Given the description of an element on the screen output the (x, y) to click on. 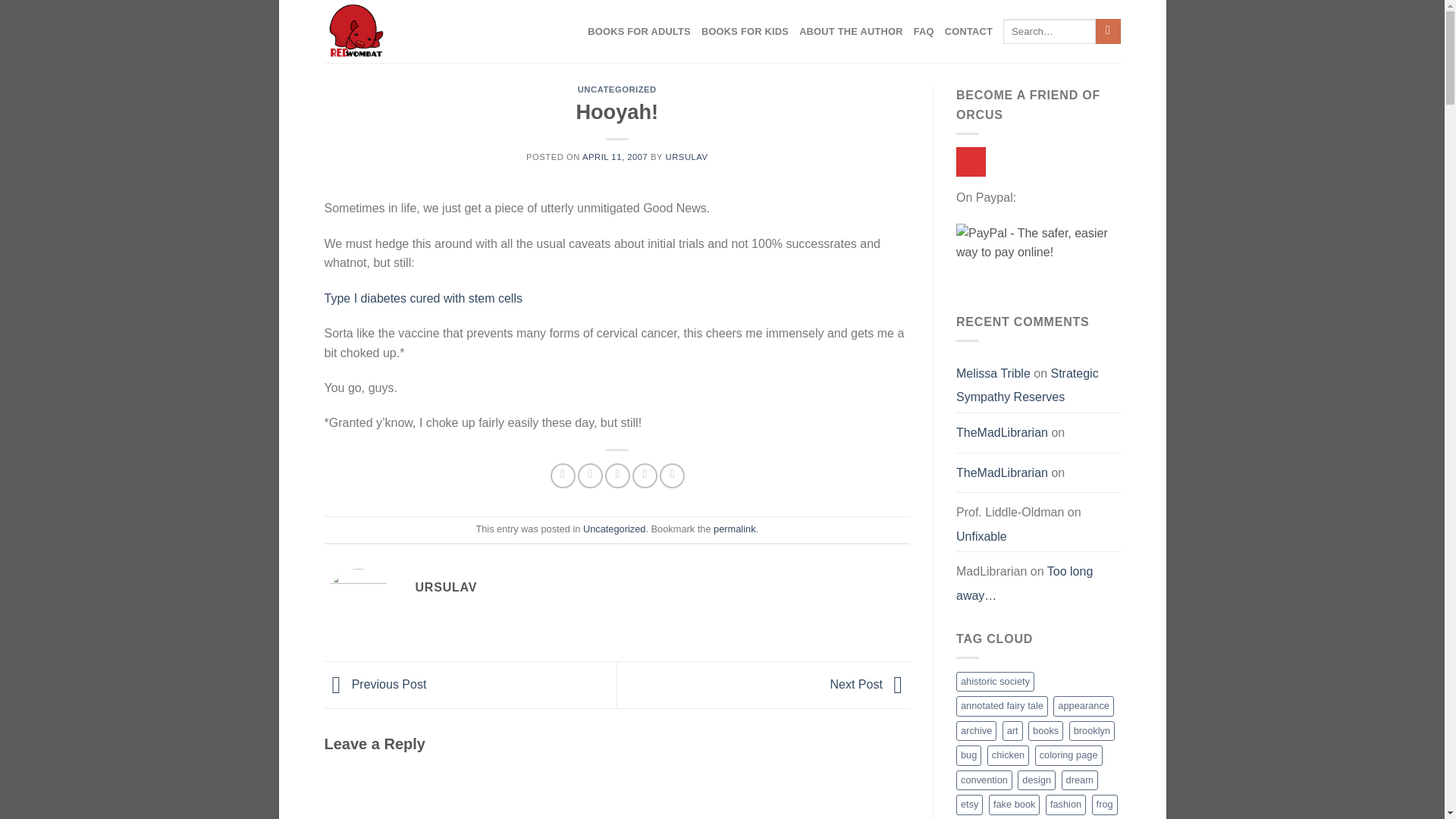
Share on Twitter (590, 475)
permalink (734, 528)
Type I diabetes cured with stem cells (423, 297)
Email to a Friend (617, 475)
Share on Facebook (562, 475)
UNCATEGORIZED (617, 89)
Permalink to Hooyah! (734, 528)
URSULAV (686, 156)
Previous Post (375, 684)
Pin on Pinterest (644, 475)
BOOKS FOR KIDS (745, 31)
Share on LinkedIn (671, 475)
Uncategorized (614, 528)
APRIL 11, 2007 (614, 156)
BOOKS FOR ADULTS (639, 31)
